Given the description of an element on the screen output the (x, y) to click on. 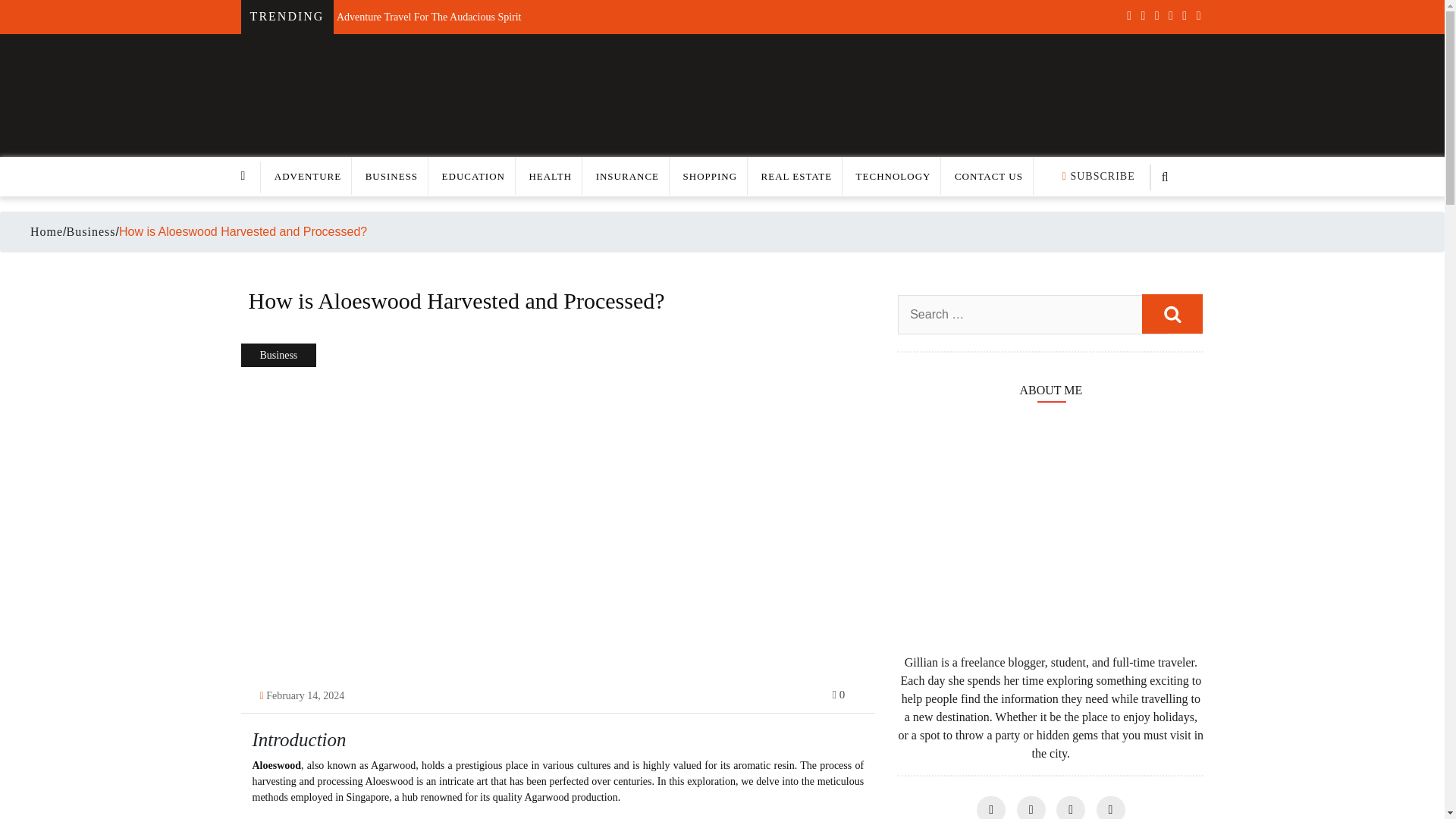
EDUCATION (473, 175)
TECHNOLOGY (893, 175)
ADVENTURE (307, 175)
Aloeswood (276, 765)
BUSINESS (391, 175)
Adventure Travel For The Audacious Spirit (428, 12)
REAL ESTATE (796, 175)
INSURANCE (627, 175)
Business (91, 231)
Home (46, 231)
